Given the description of an element on the screen output the (x, y) to click on. 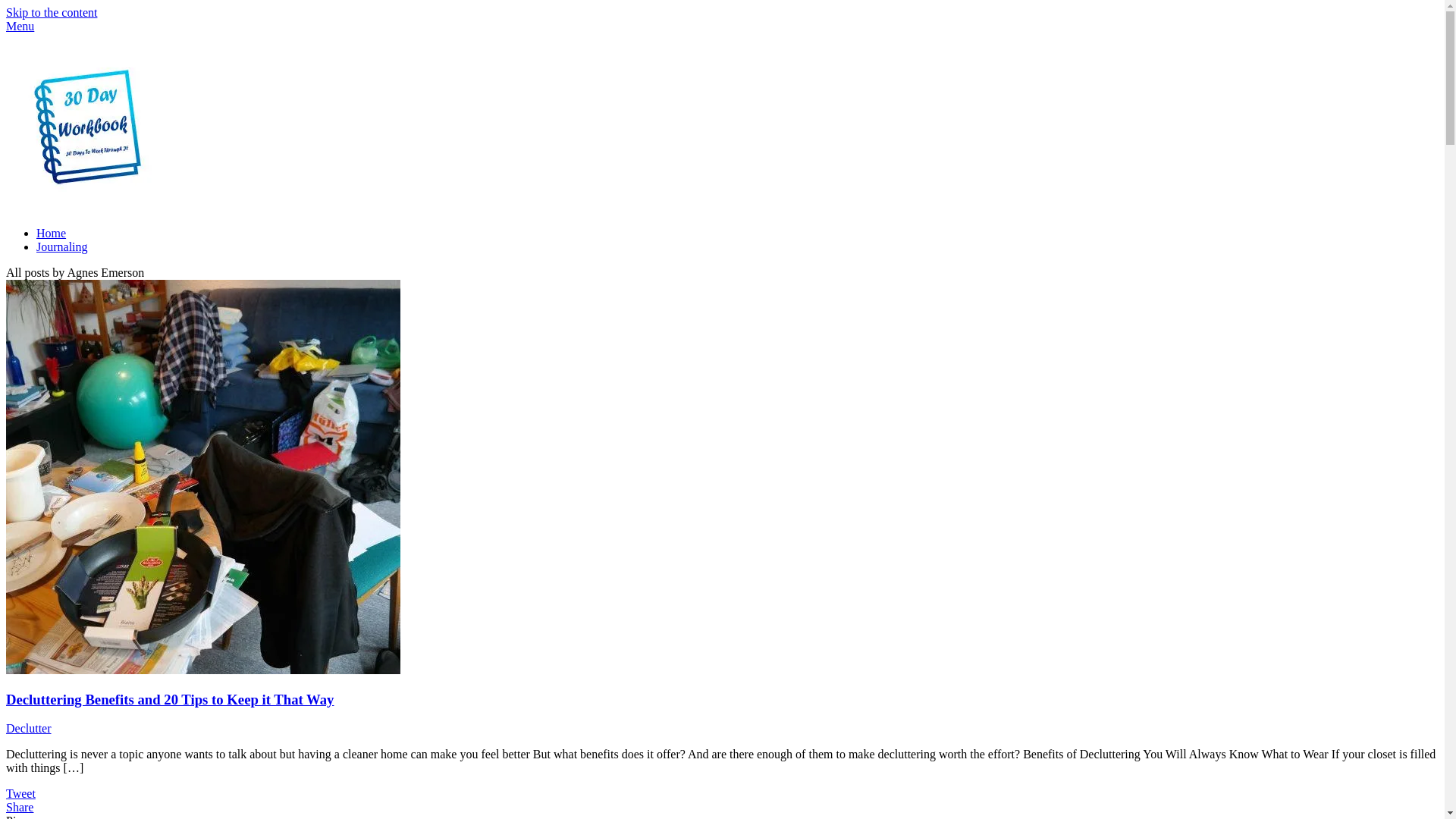
Tweet Element type: text (20, 793)
Home Element type: text (50, 232)
Journaling Element type: text (61, 246)
Share Element type: text (19, 806)
Menu Element type: text (20, 25)
Declutter Element type: text (28, 727)
Skip to the content Element type: text (51, 12)
Decluttering Benefits and 20 Tips to Keep it That Way Element type: text (169, 699)
